Given the description of an element on the screen output the (x, y) to click on. 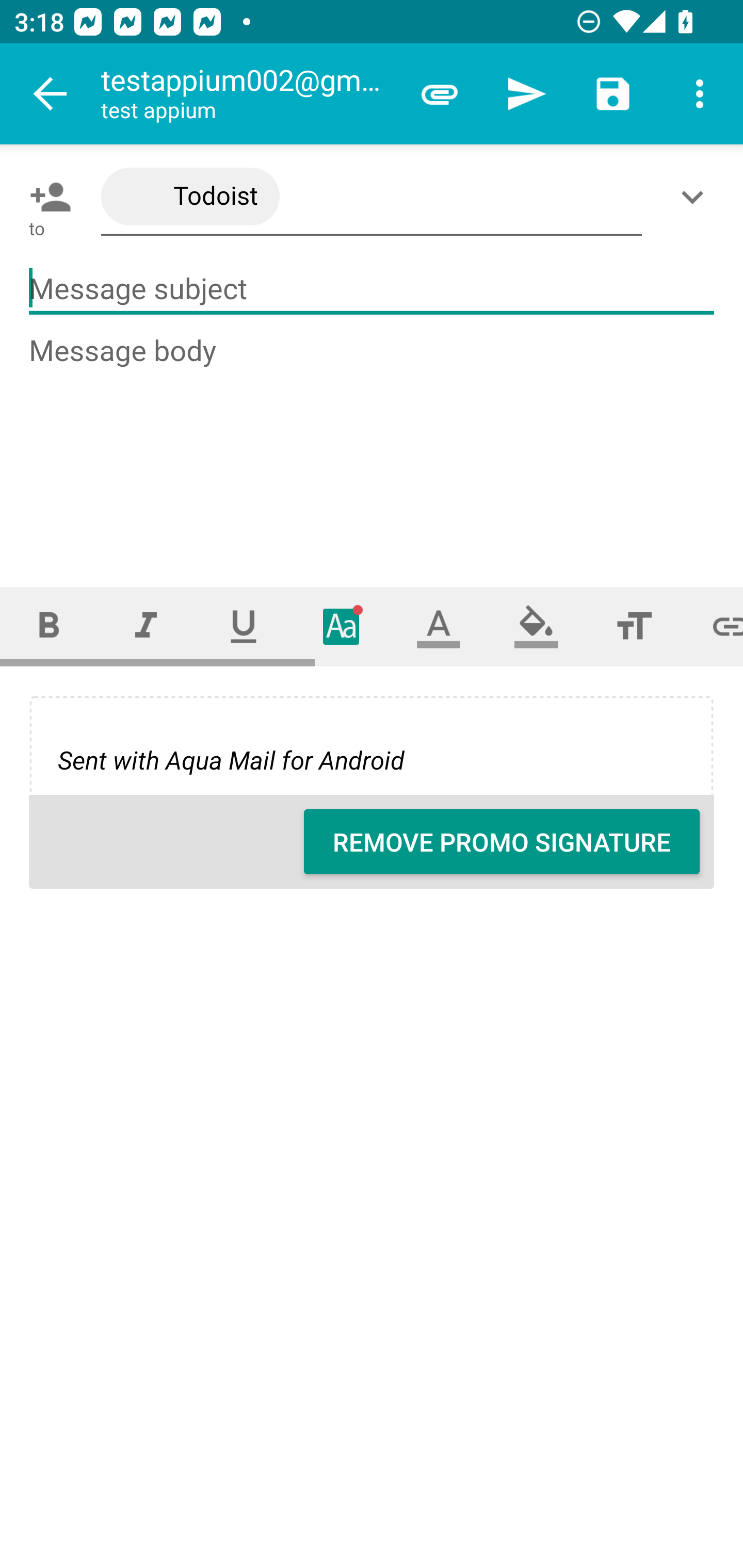
Navigate up (50, 93)
testappium002@gmail.com test appium (248, 93)
Attach (439, 93)
Send (525, 93)
Save (612, 93)
More options (699, 93)
Todoist <no-reply@todoist.com>,  (371, 197)
Pick contact: To (46, 196)
Show/Add CC/BCC (696, 196)
Message subject (371, 288)
Message body (372, 442)
Bold (48, 626)
Italic (145, 626)
Underline (243, 626)
Typeface (font) (341, 626)
Text color (438, 626)
Fill color (536, 626)
Font size (633, 626)
REMOVE PROMO SIGNATURE (501, 841)
